Given the description of an element on the screen output the (x, y) to click on. 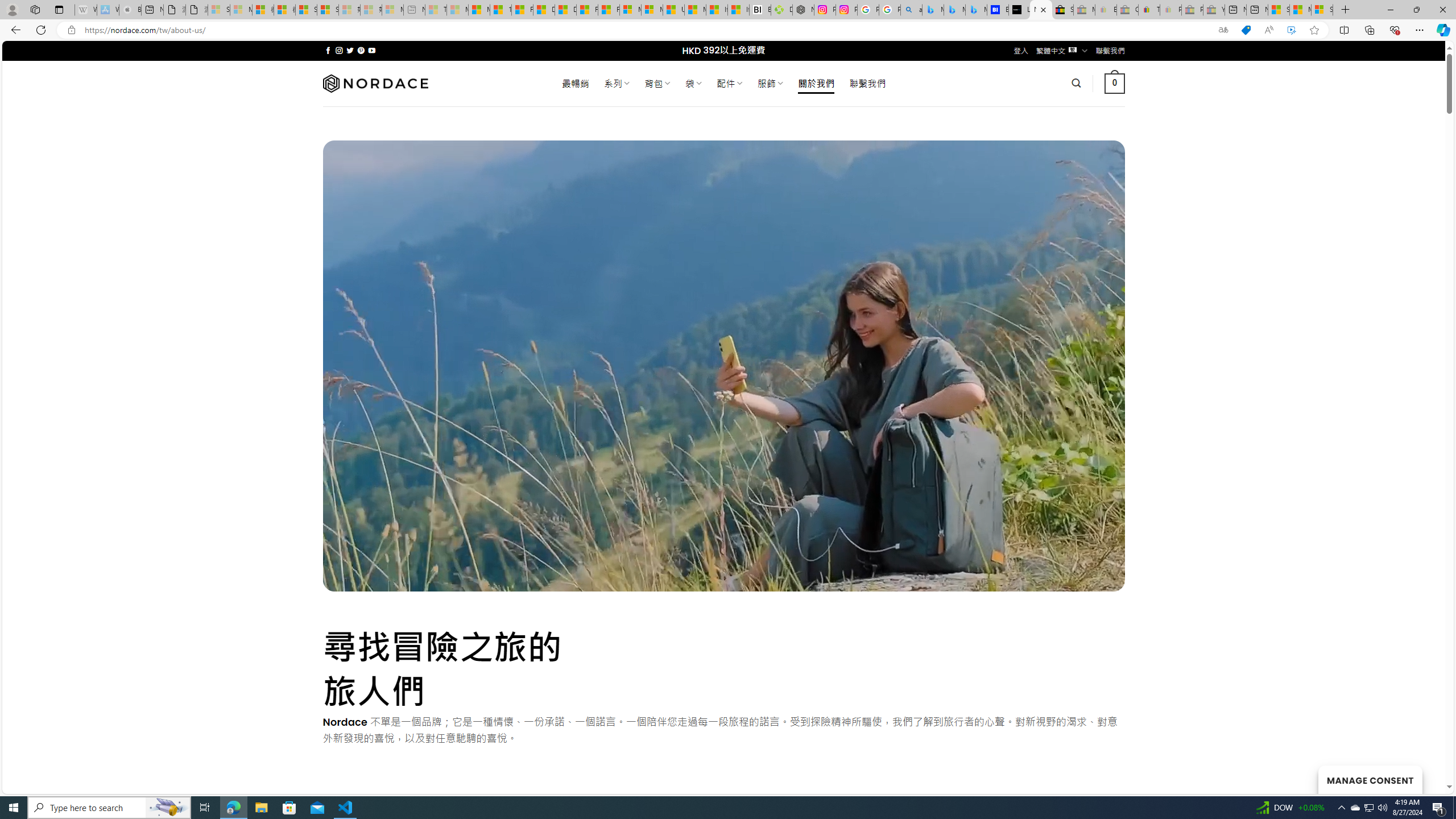
Marine life - MSN - Sleeping (457, 9)
Food and Drink - MSN (522, 9)
